Given the description of an element on the screen output the (x, y) to click on. 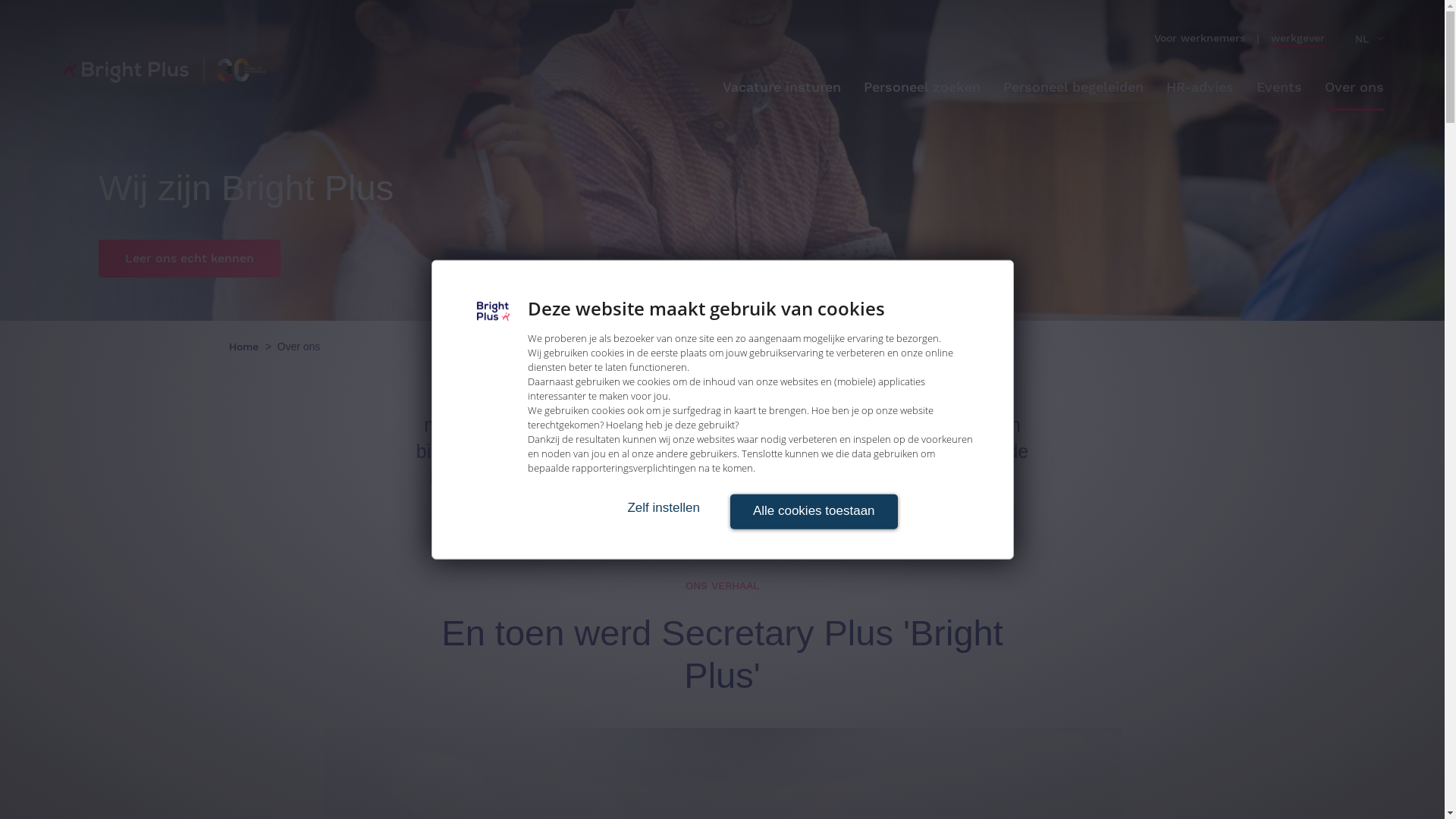
HR-advies Element type: text (1199, 87)
Events Element type: text (1279, 87)
Over ons Element type: text (1353, 87)
Zelf instellen Element type: text (662, 507)
Personeel zoeken Element type: text (921, 87)
Alle cookies toestaan Element type: text (813, 511)
werkgever Element type: text (1297, 38)
Leer ons echt kennen Element type: text (189, 258)
Vacature insturen Element type: text (781, 87)
Personeel begeleiden Element type: text (1073, 87)
werknemers Element type: text (1212, 38)
Home Element type: text (245, 346)
